Given the description of an element on the screen output the (x, y) to click on. 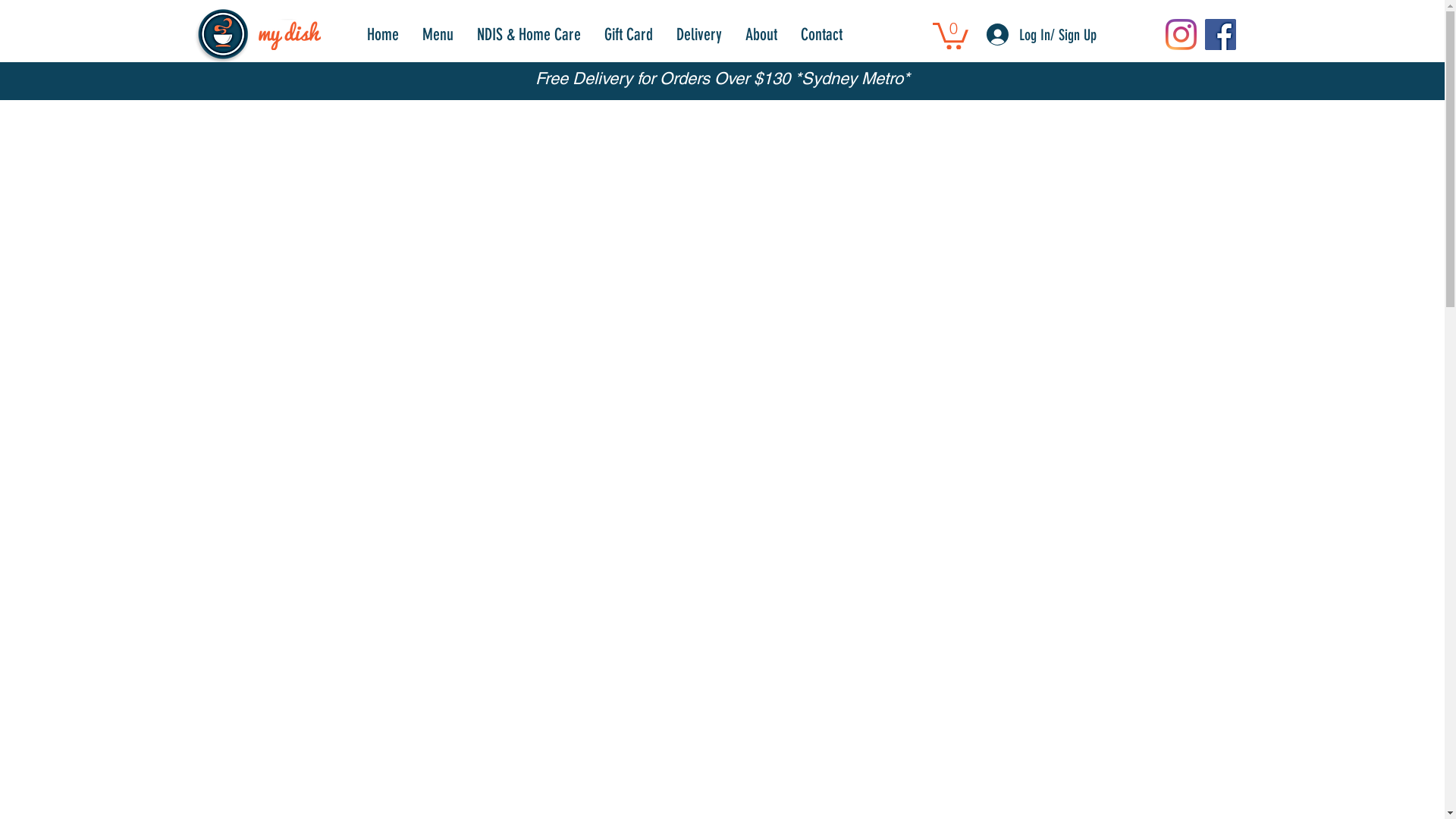
NDIS & Home Care Element type: text (527, 34)
Log In/ Sign Up Element type: text (1013, 34)
Contact Element type: text (820, 34)
Gift Card Element type: text (627, 34)
Menu Element type: text (436, 34)
About Element type: text (759, 34)
0 Element type: text (950, 34)
Delivery Element type: text (698, 34)
Home Element type: text (381, 34)
